Given the description of an element on the screen output the (x, y) to click on. 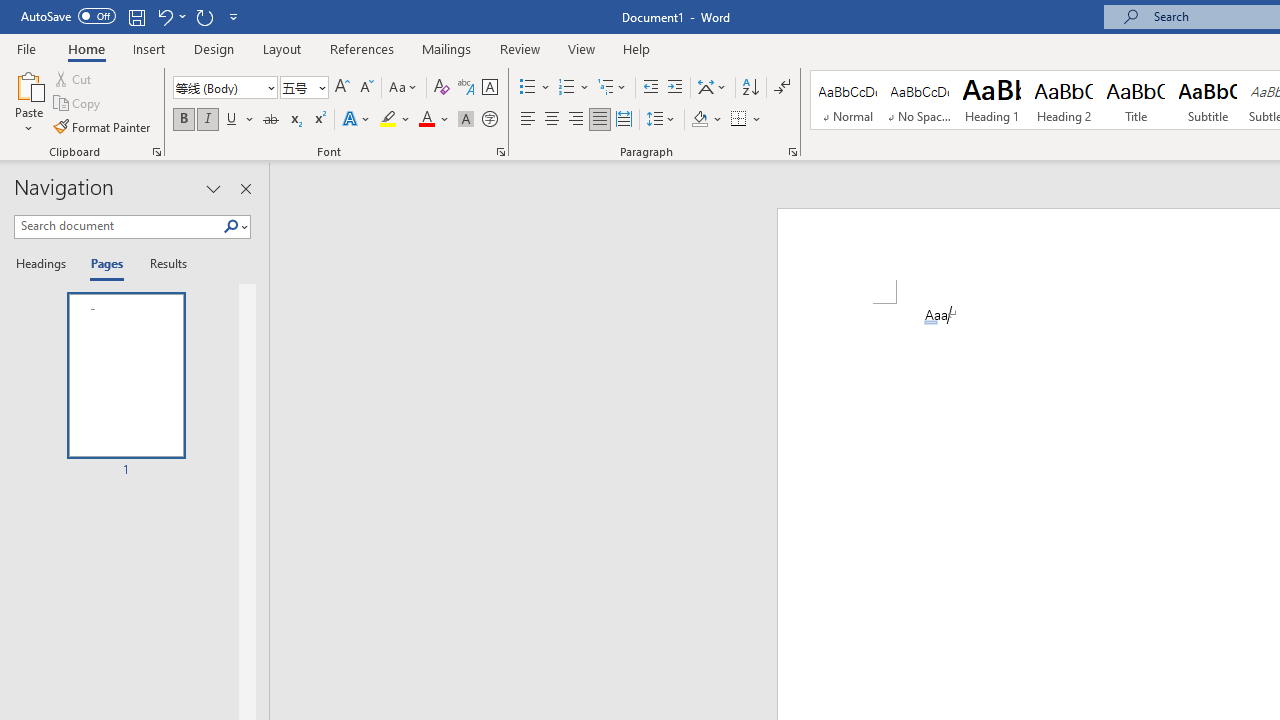
Subtitle (1208, 100)
